Given the description of an element on the screen output the (x, y) to click on. 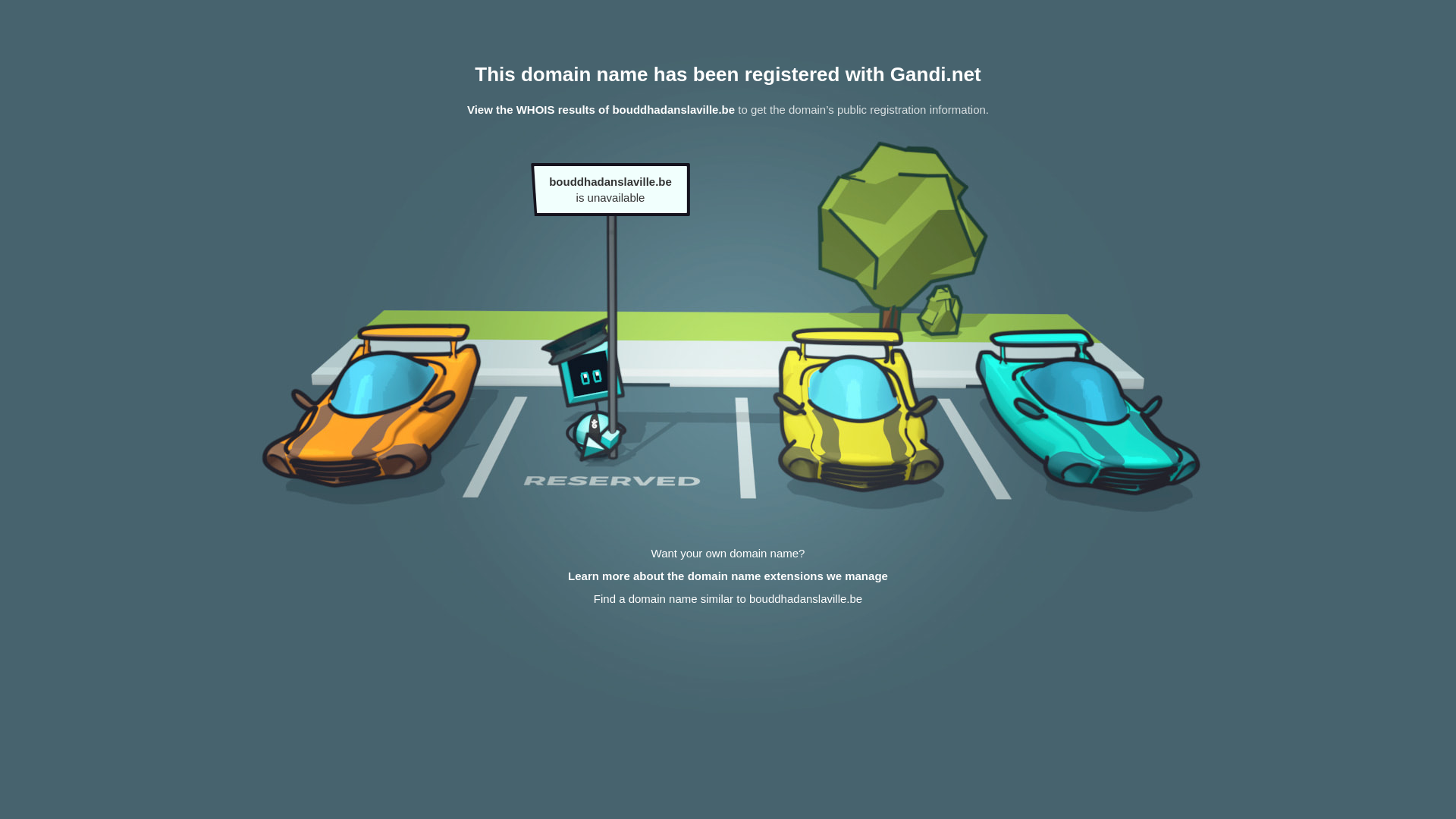
View the WHOIS results of bouddhadanslaville.be Element type: text (600, 109)
Learn more about the domain name extensions we manage Element type: text (727, 575)
Find a domain name similar to bouddhadanslaville.be Element type: text (727, 598)
